Given the description of an element on the screen output the (x, y) to click on. 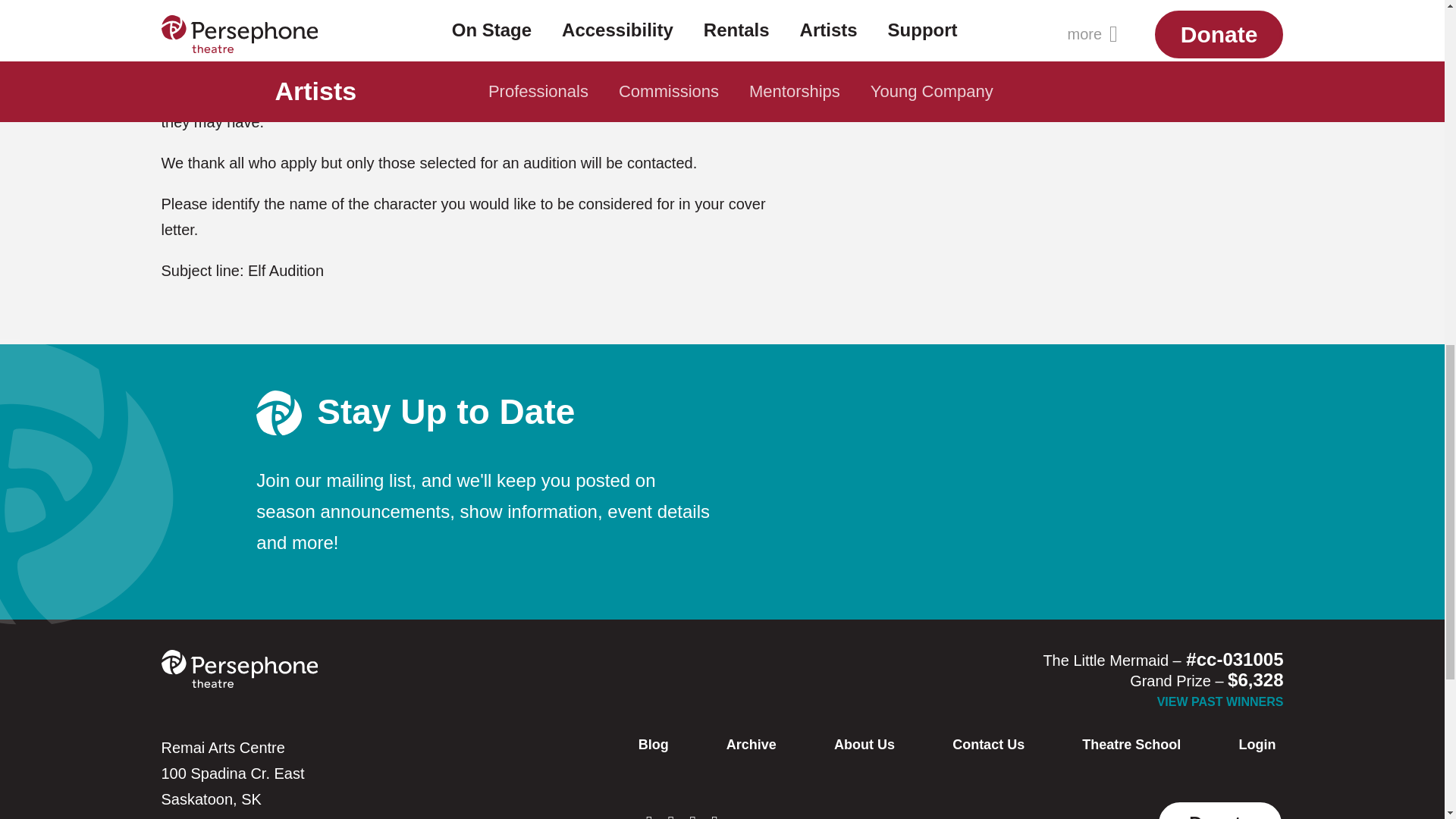
persephone-logomark (278, 412)
